Given the description of an element on the screen output the (x, y) to click on. 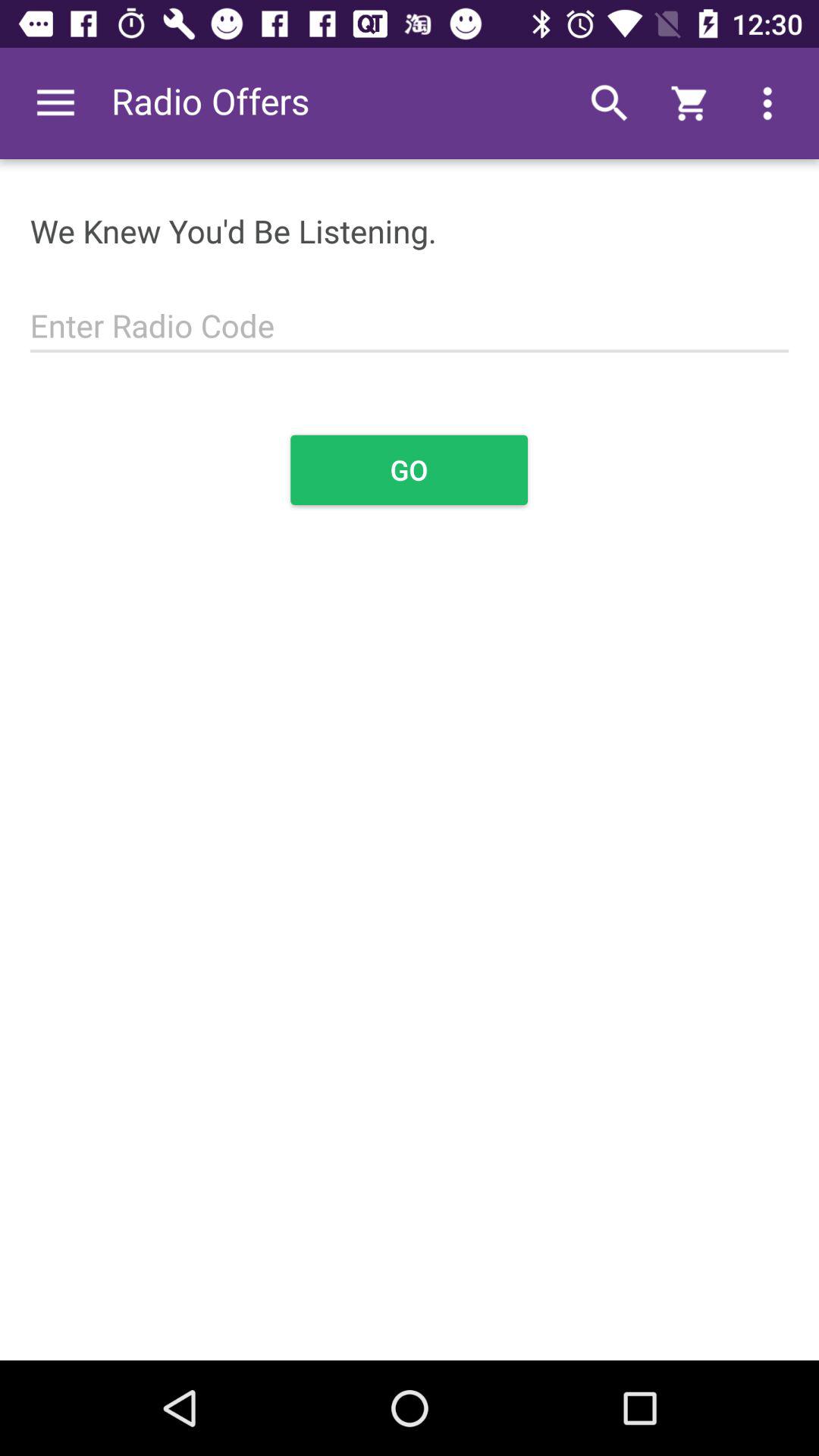
choose the item next to radio offers icon (55, 103)
